Given the description of an element on the screen output the (x, y) to click on. 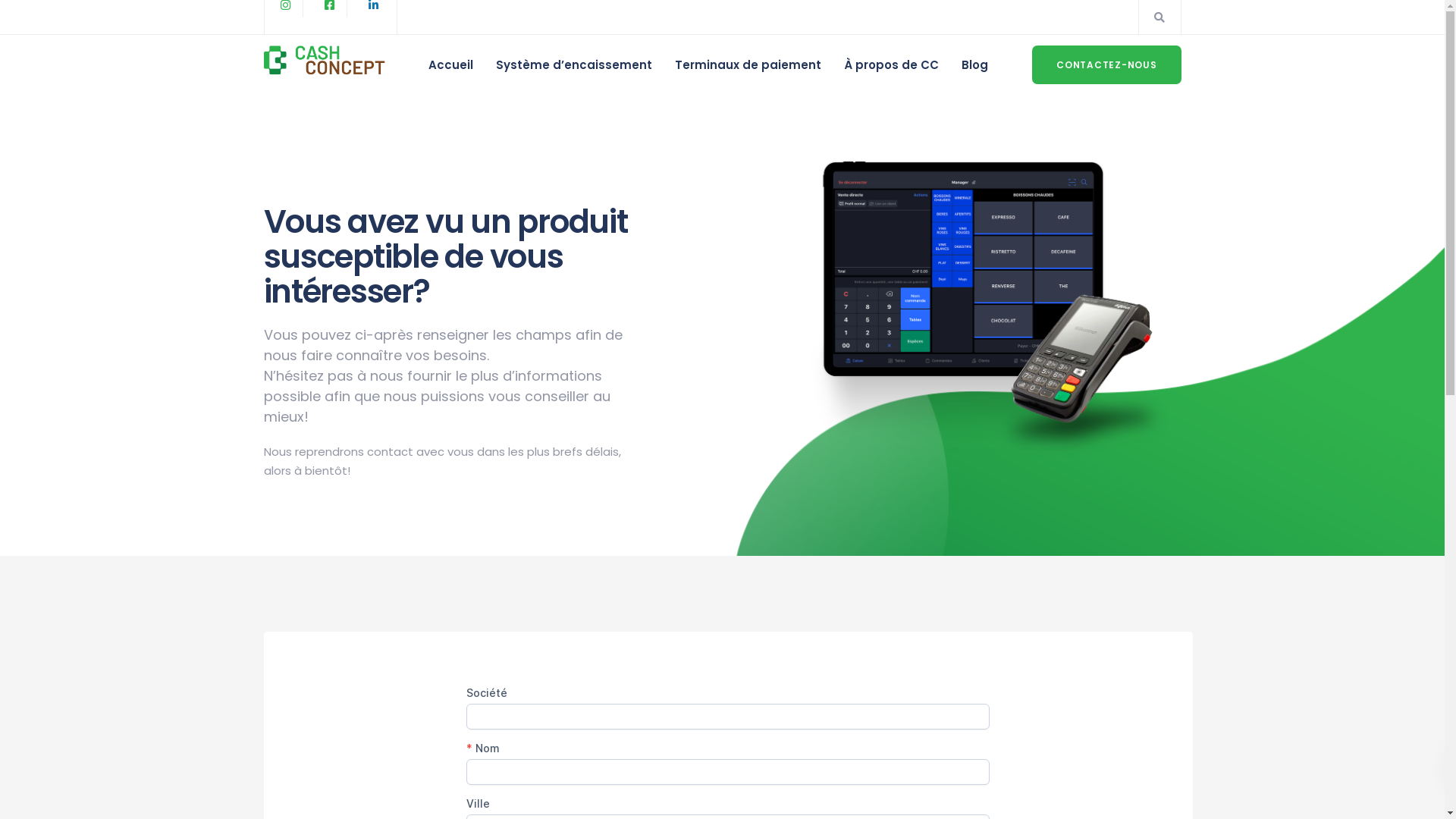
Terminaux de paiement Element type: text (747, 64)
Accueil Element type: text (450, 64)
CONTACTEZ-NOUS Element type: text (1106, 64)
Blog Element type: text (974, 64)
